Given the description of an element on the screen output the (x, y) to click on. 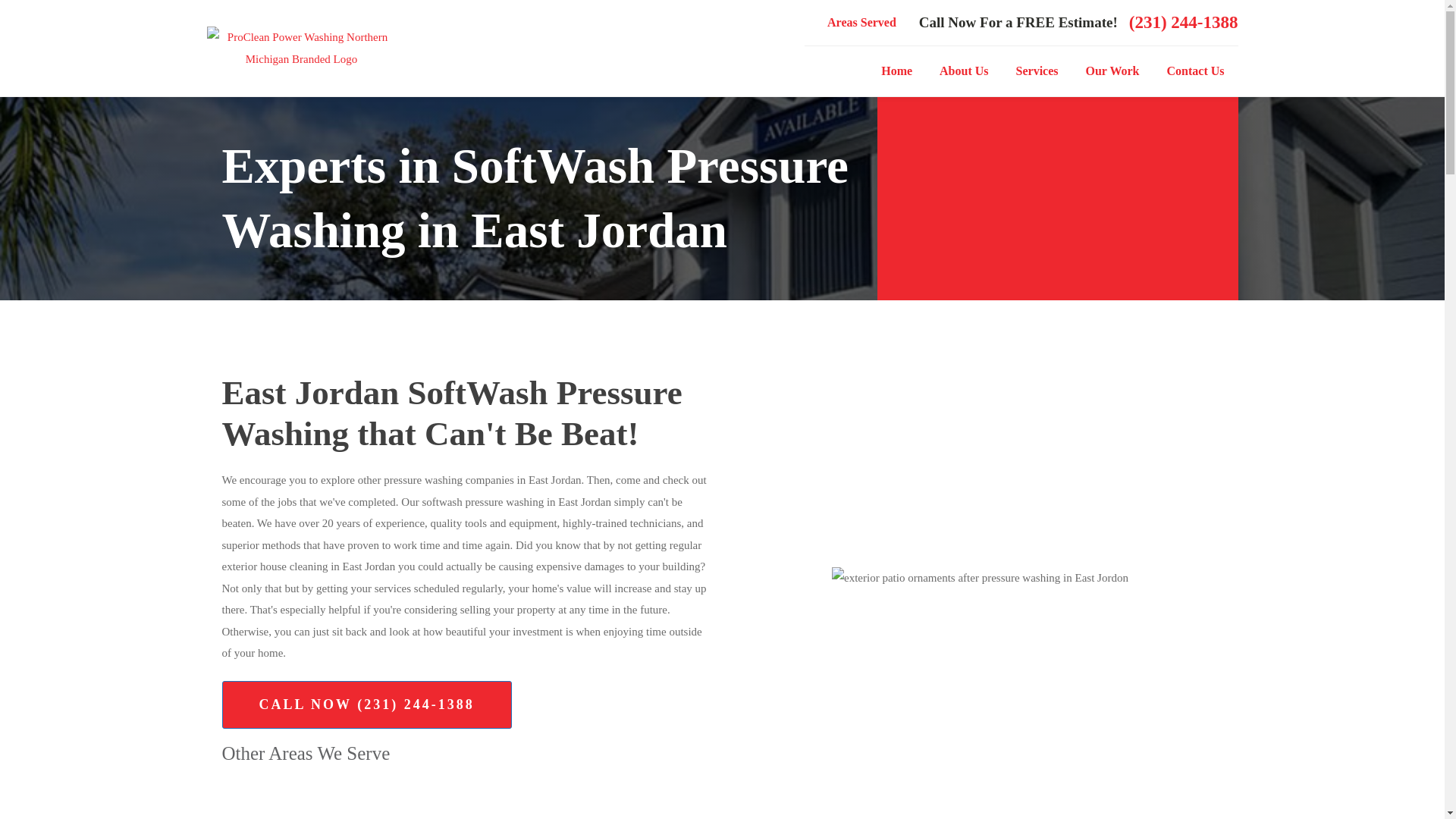
Services (1037, 70)
Our Work (1112, 70)
Contact Us (1195, 70)
About Us (963, 70)
Other Areas We Serve (305, 754)
Areas Served (861, 22)
Home (896, 70)
